Given the description of an element on the screen output the (x, y) to click on. 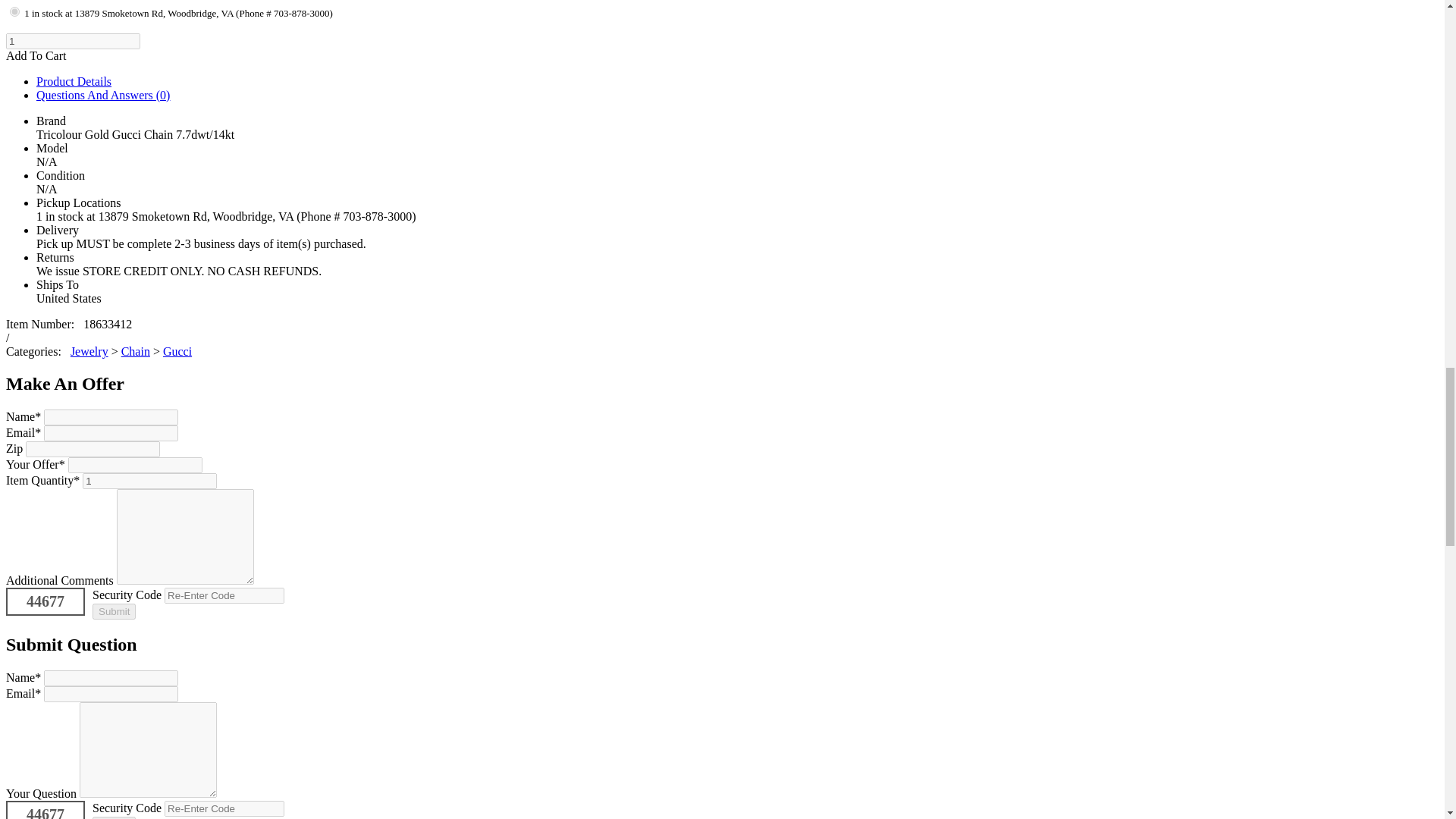
1 (15, 11)
1 (149, 480)
1 (72, 41)
